Given the description of an element on the screen output the (x, y) to click on. 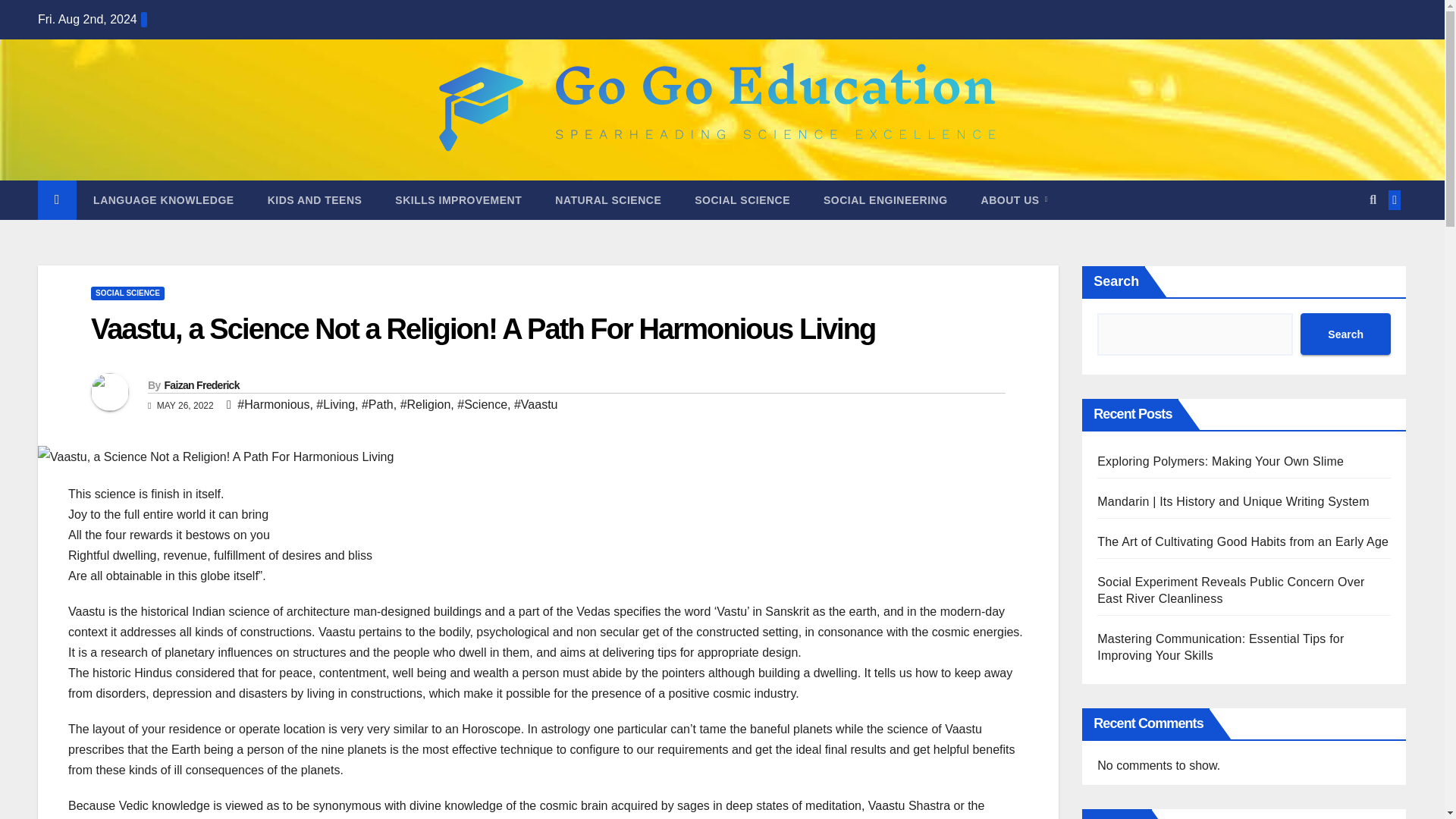
Skills Improvement (458, 200)
SOCIAL SCIENCE (127, 293)
NATURAL SCIENCE (608, 200)
SOCIAL ENGINEERING (884, 200)
Language Knowledge (163, 200)
KIDS AND TEENS (314, 200)
Natural Science (608, 200)
Social Science (742, 200)
Faizan Frederick (200, 385)
Social Engineering (884, 200)
LANGUAGE KNOWLEDGE (163, 200)
ABOUT US (1013, 200)
